Given the description of an element on the screen output the (x, y) to click on. 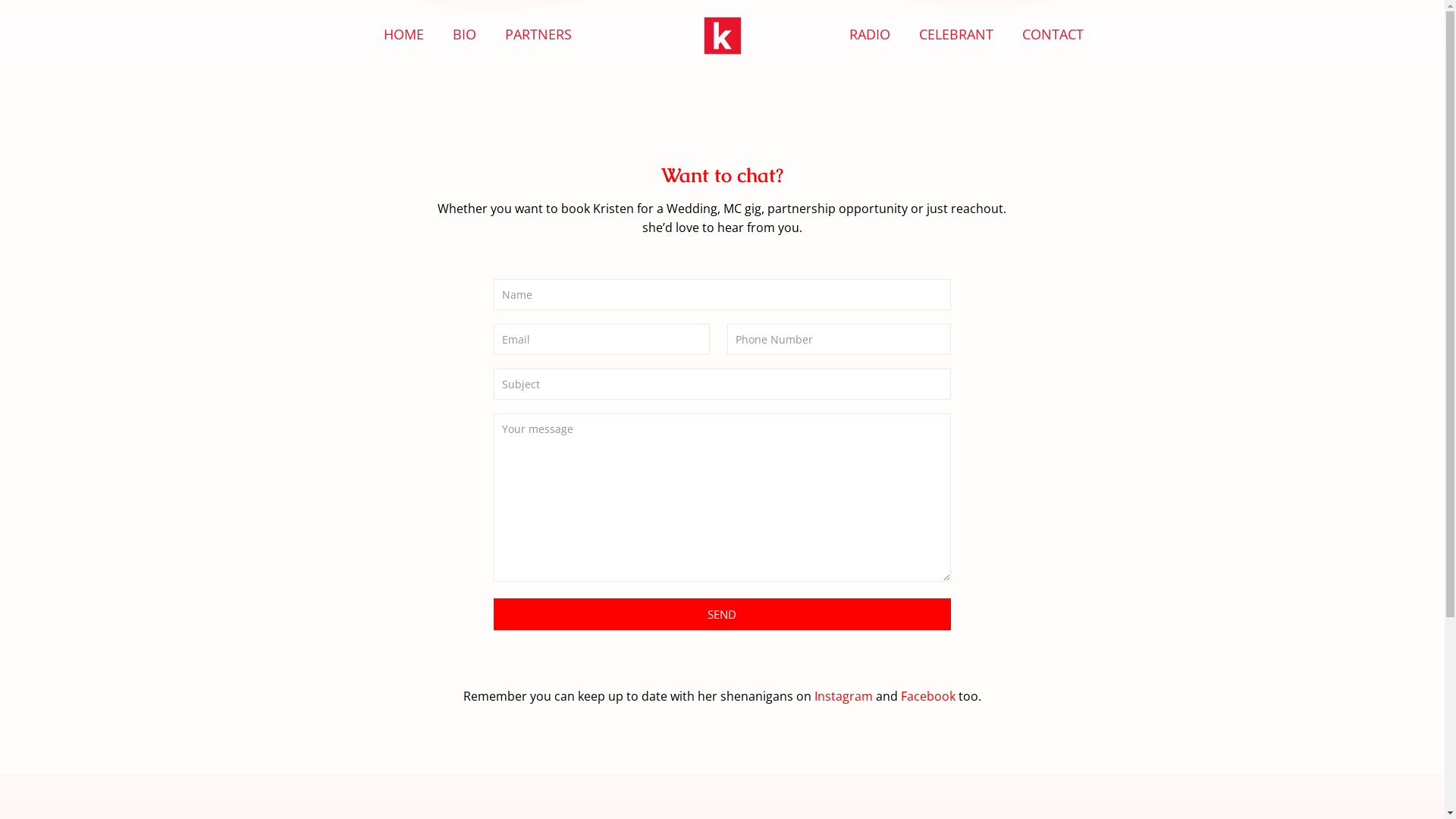
BIO Element type: text (464, 34)
HOME Element type: text (403, 34)
CELEBRANT Element type: text (956, 34)
Instagram Element type: text (844, 695)
CONTACT Element type: text (1052, 34)
Facebook Element type: text (927, 695)
SEND Element type: text (721, 614)
Kristen Davidson Element type: hover (721, 34)
RADIO Element type: text (869, 34)
PARTNERS Element type: text (538, 34)
